Given the description of an element on the screen output the (x, y) to click on. 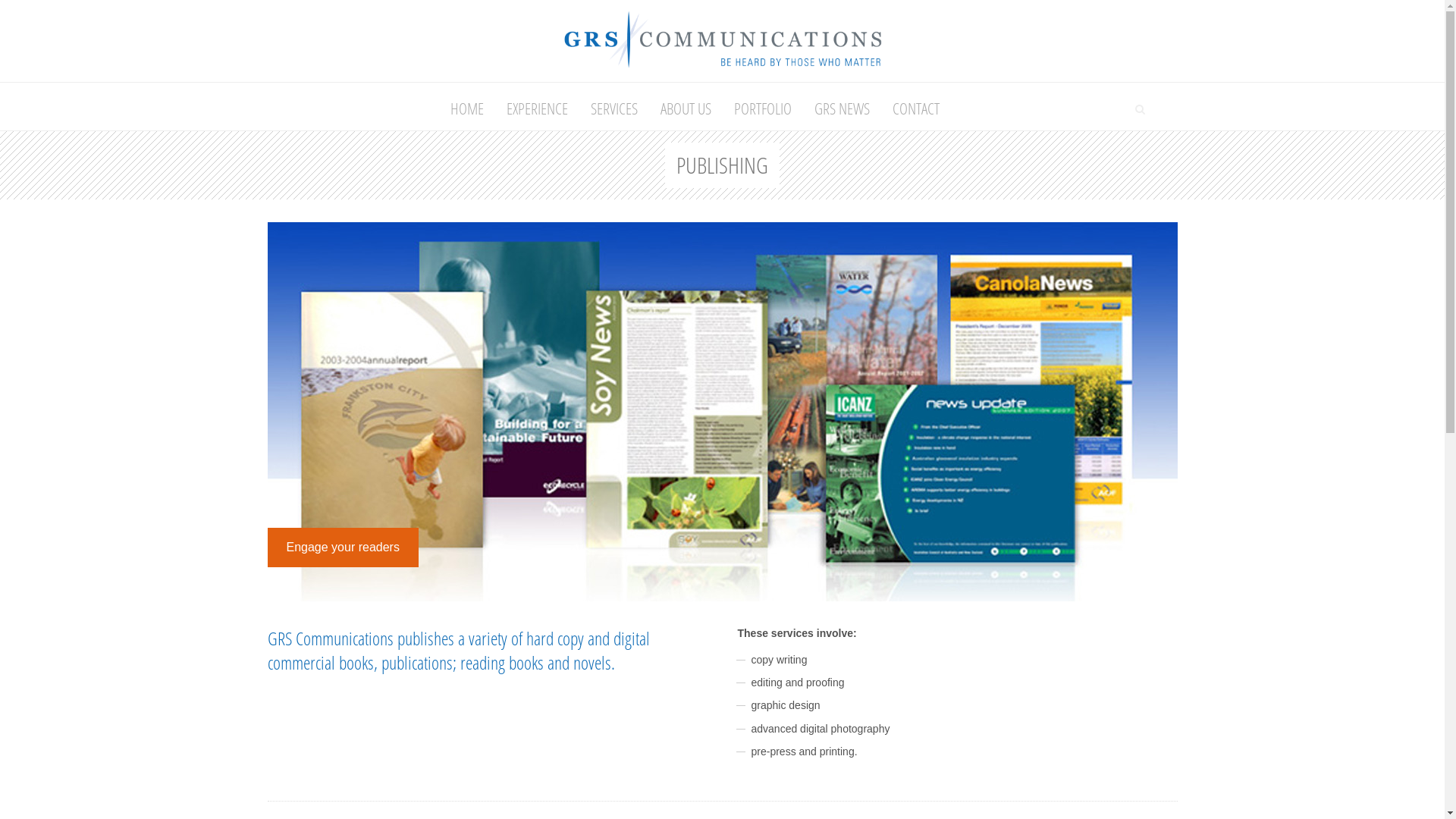
EXPERIENCE Element type: text (536, 106)
PORTFOLIO Element type: text (761, 106)
HOME Element type: text (466, 106)
GRS NEWS Element type: text (841, 106)
ABOUT US Element type: text (685, 106)
CONTACT Element type: text (915, 106)
SERVICES Element type: text (614, 106)
